Given the description of an element on the screen output the (x, y) to click on. 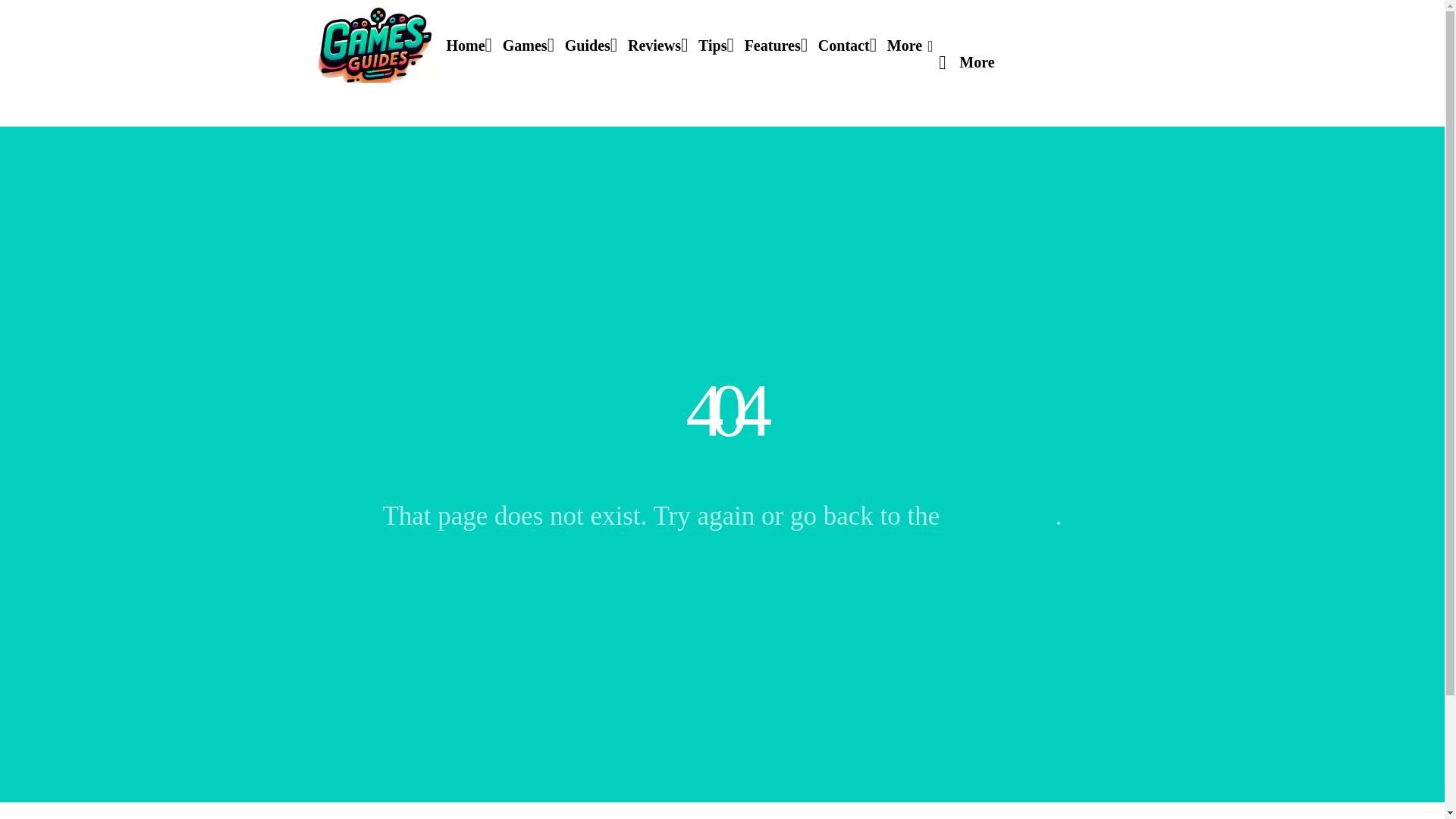
Contact (843, 45)
More (976, 61)
Features (772, 45)
Reviews (654, 45)
More (976, 61)
Games (524, 45)
More (909, 45)
Home (464, 45)
Guides (587, 45)
